Given the description of an element on the screen output the (x, y) to click on. 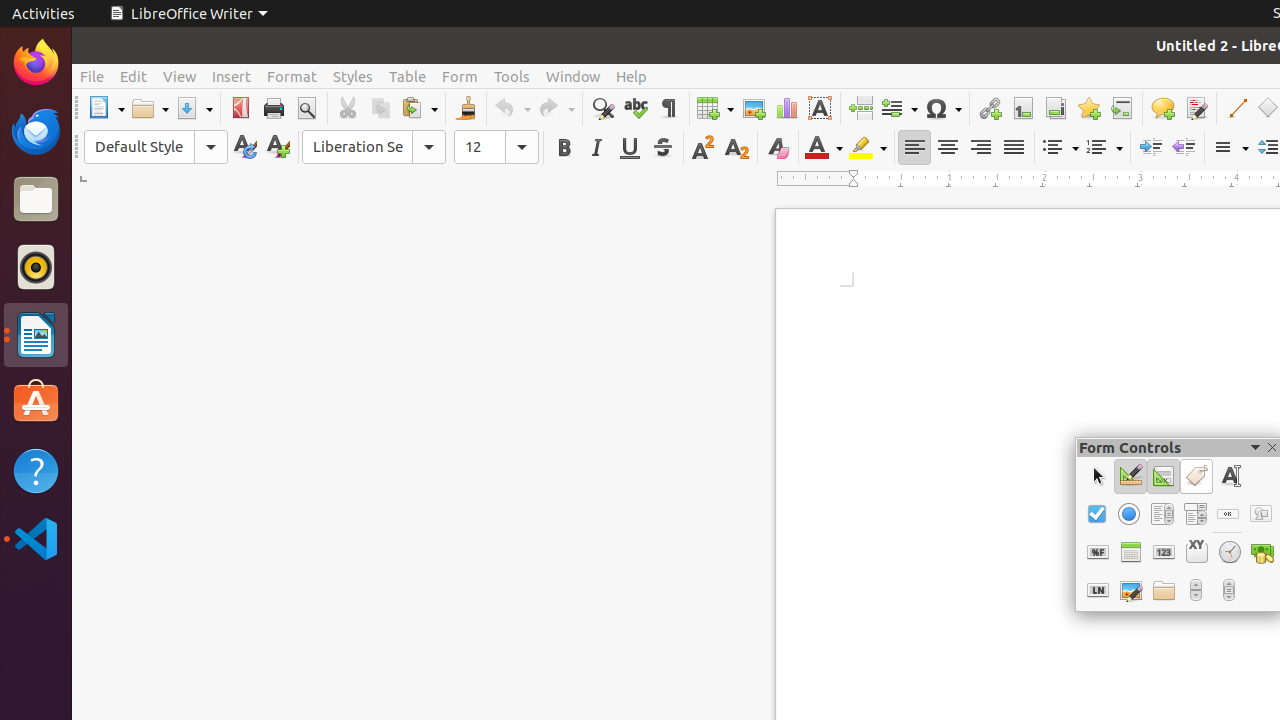
Label Element type: toggle-button (1196, 476)
Time Field Element type: toggle-button (1229, 552)
LibreOffice Writer Element type: push-button (36, 334)
Visual Studio Code Element type: push-button (36, 538)
Scrollbar Element type: toggle-button (1229, 590)
